Given the description of an element on the screen output the (x, y) to click on. 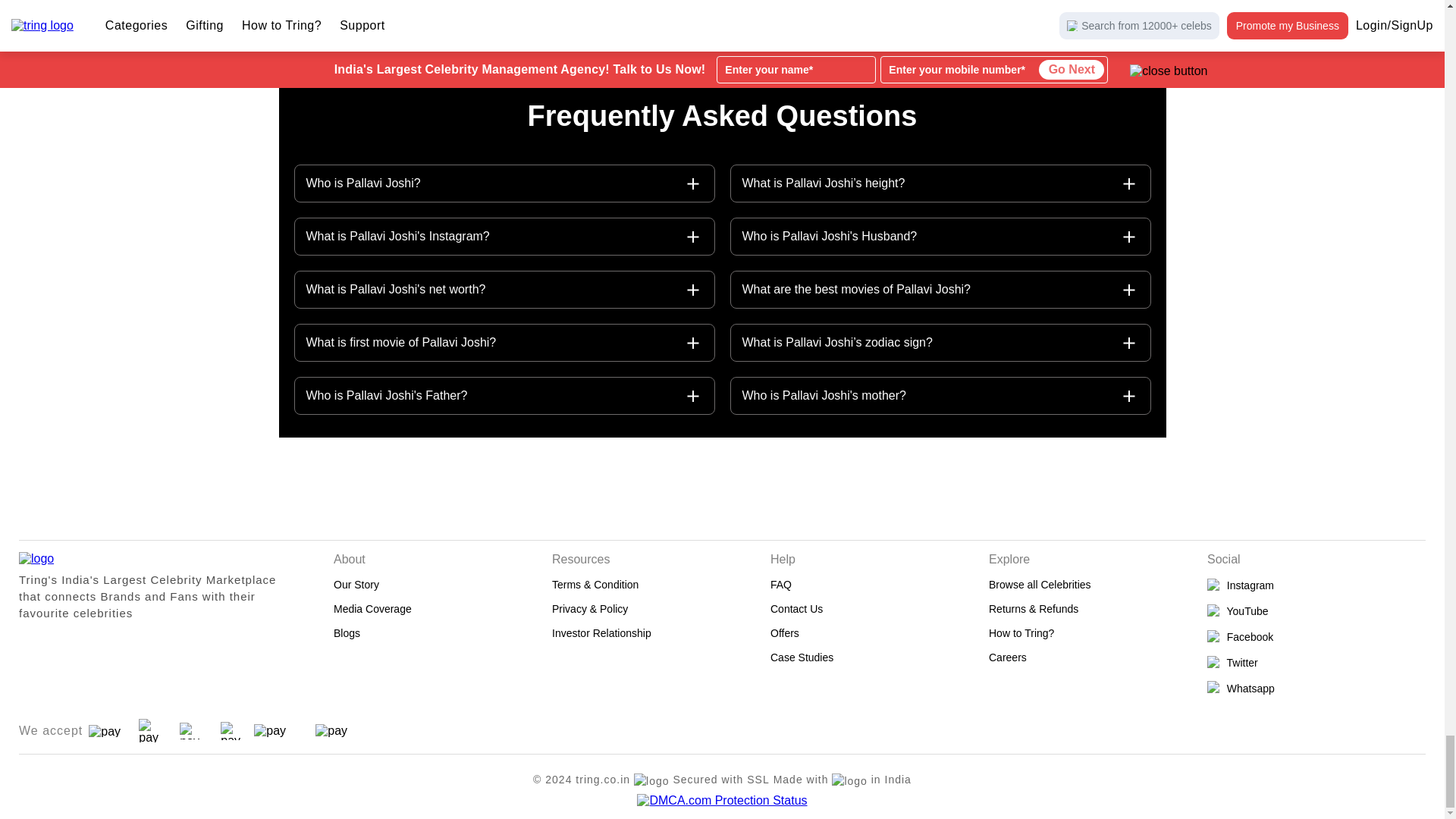
Twitter (1316, 662)
WhatsApp (1316, 688)
DMCA.com Protection Status (721, 800)
Youtube (1316, 611)
